Given the description of an element on the screen output the (x, y) to click on. 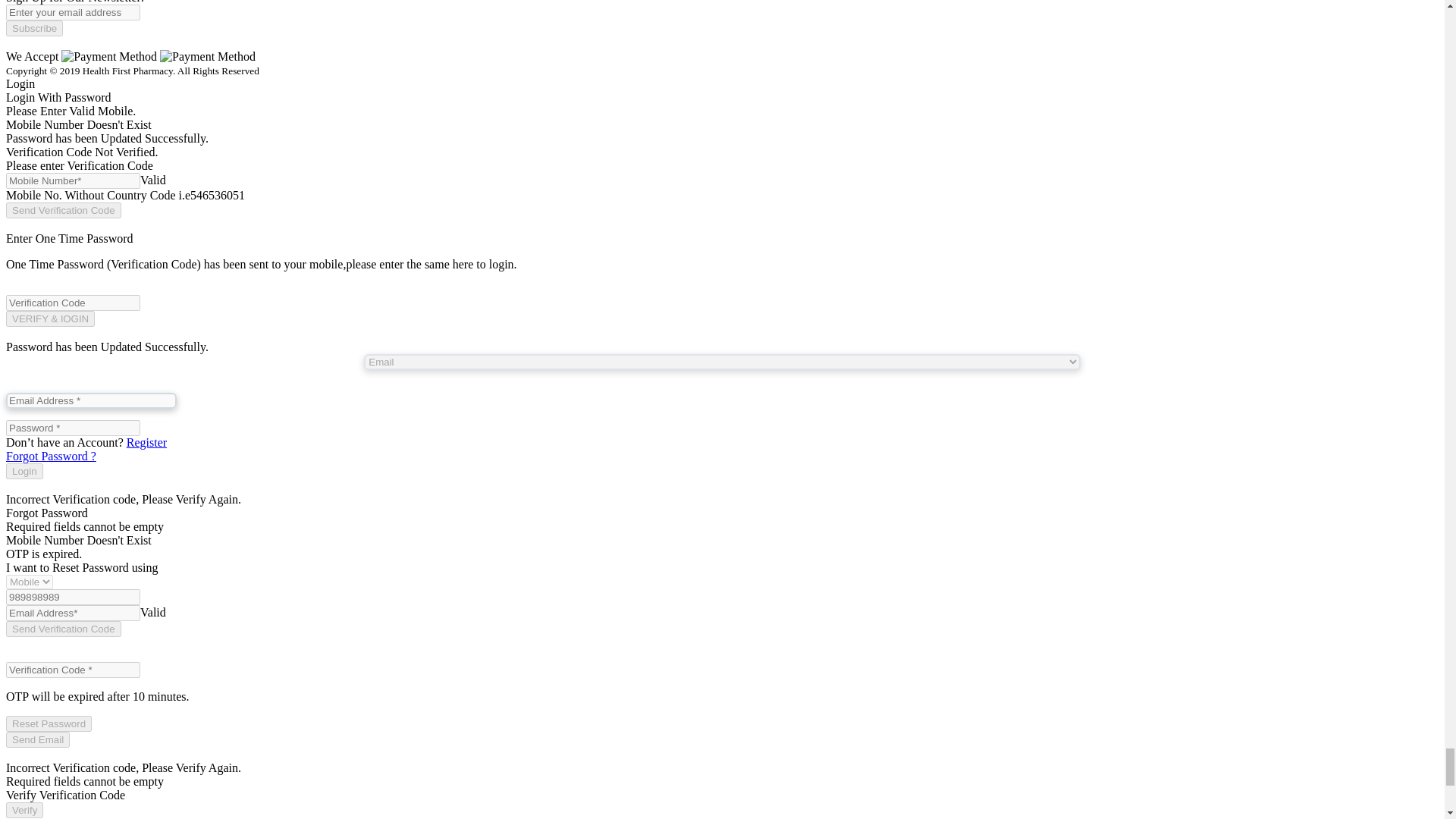
Send Verification Code (62, 210)
Send Verification Code (62, 628)
Subscribe (33, 28)
Reset Password (48, 723)
Password (72, 427)
Verify (24, 810)
Email Address (90, 400)
Send Email (37, 739)
